Given the description of an element on the screen output the (x, y) to click on. 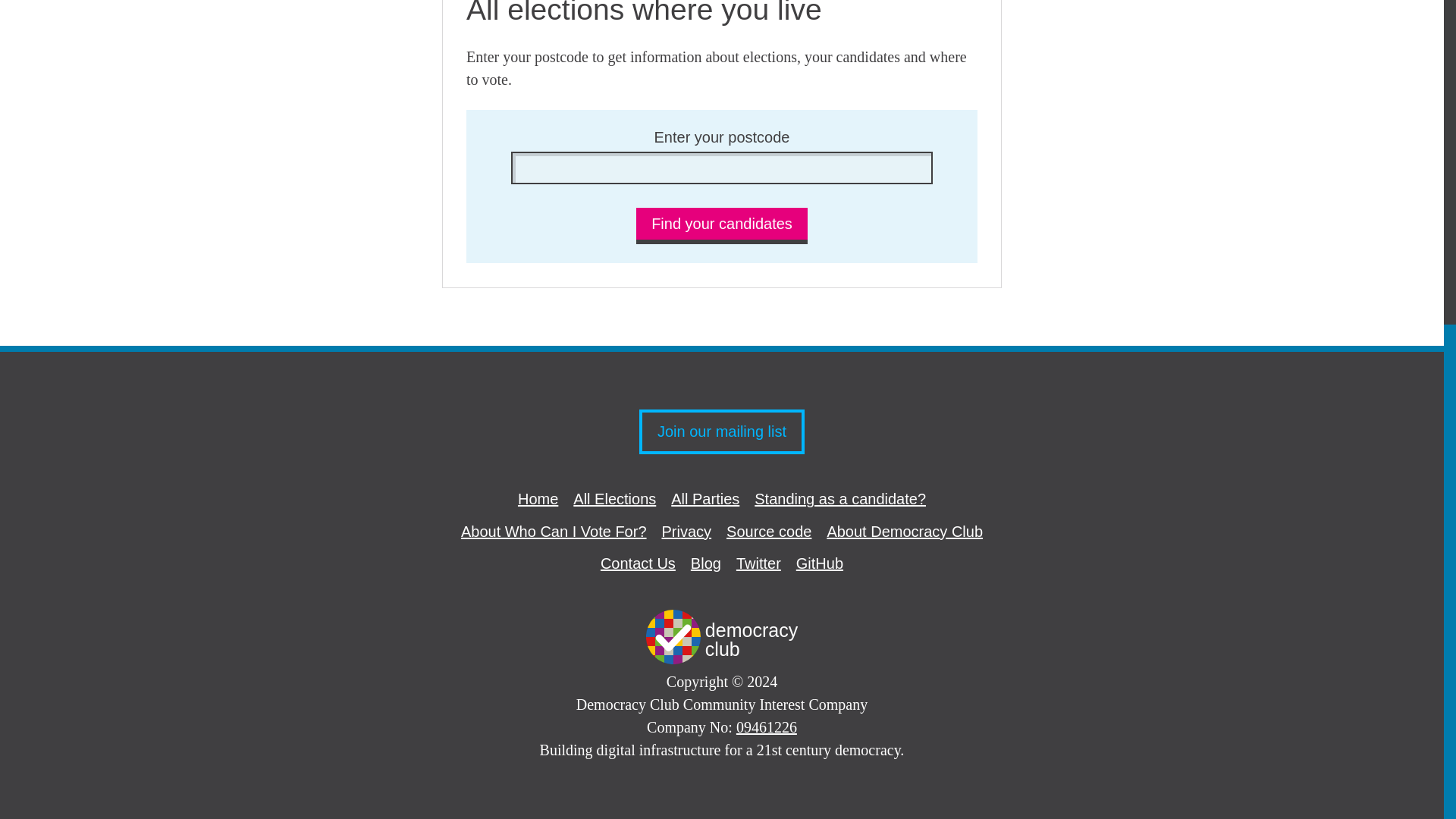
Blog (705, 563)
Contact Us (637, 563)
About Democracy Club (904, 531)
All Elections (614, 498)
Twitter (758, 563)
All Parties (705, 498)
Privacy (686, 531)
Home (537, 498)
Find your candidates (722, 226)
Join our mailing list (722, 431)
Source code (768, 531)
About Who Can I Vote For? (553, 531)
09461226 (766, 727)
Standing as a candidate? (840, 498)
